Given the description of an element on the screen output the (x, y) to click on. 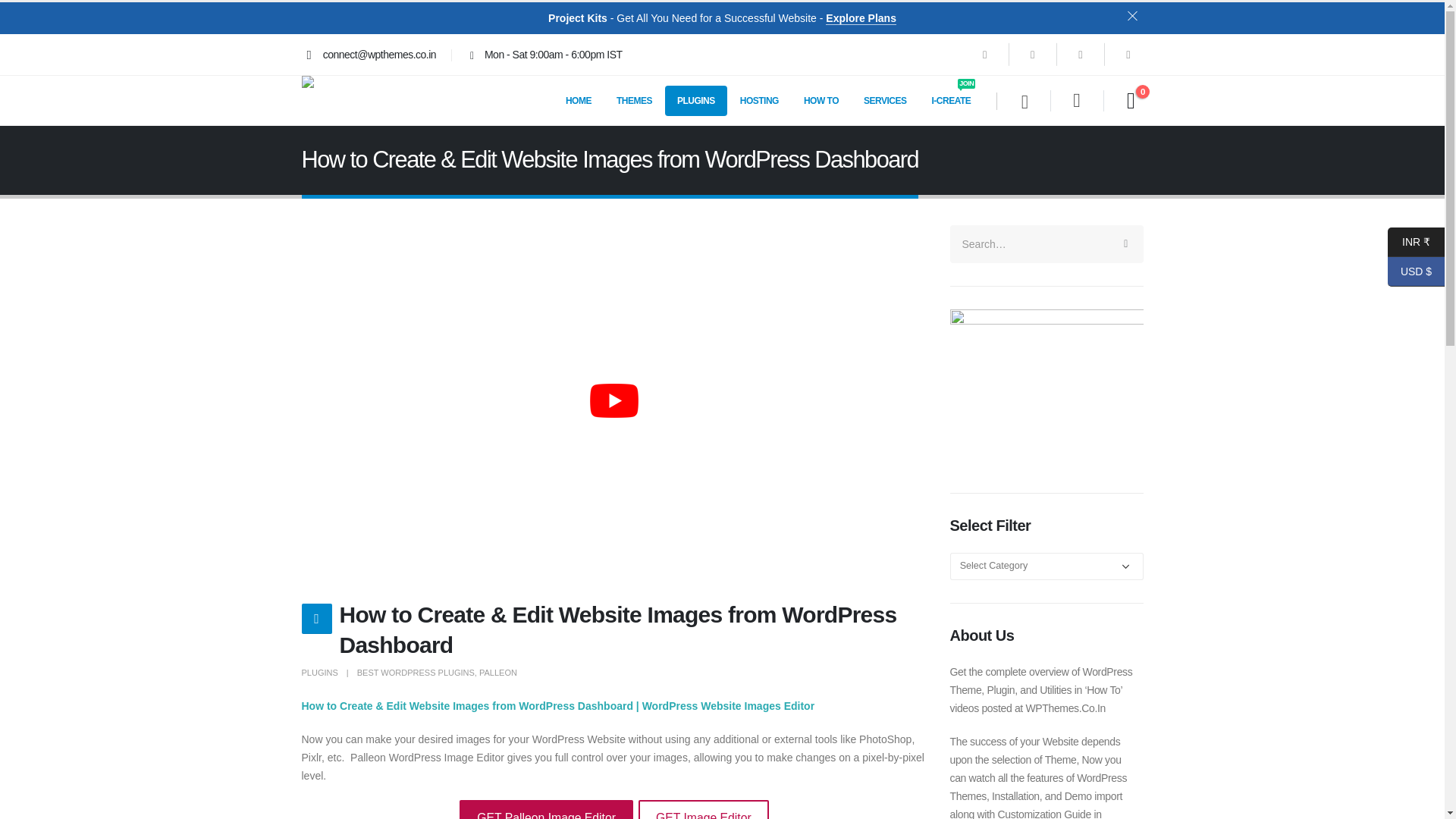
HOSTING (759, 100)
THEMES (633, 100)
GET Palleon Image Editor (546, 809)
PLUGINS (695, 100)
Explore Plans (860, 18)
Mon - Sat 9:00am - 6:00pm IST (543, 54)
Twitter (1031, 54)
Project Kits - Get All You Need for a Successful Website - (686, 18)
PLUGINS (319, 672)
Tumblr (1127, 54)
SERVICES (884, 100)
Facebook (952, 100)
PALLEON (984, 54)
BEST WORDPRESS PLUGINS (497, 672)
